Given the description of an element on the screen output the (x, y) to click on. 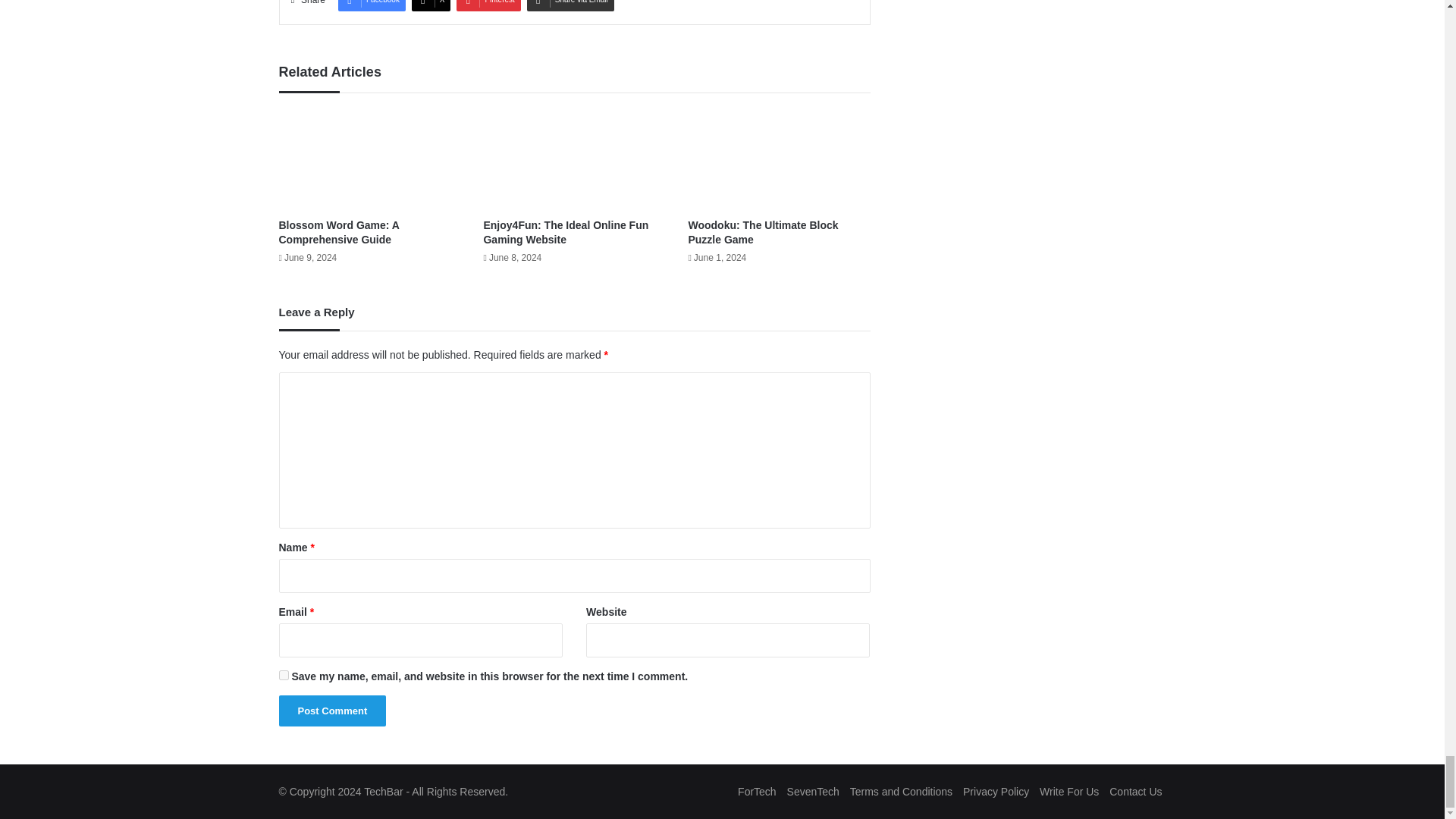
Facebook (371, 5)
X (431, 5)
X (431, 5)
yes (283, 675)
Pinterest (488, 5)
Share via Email (570, 5)
Facebook (371, 5)
Pinterest (488, 5)
Share via Email (570, 5)
Post Comment (333, 710)
